Given the description of an element on the screen output the (x, y) to click on. 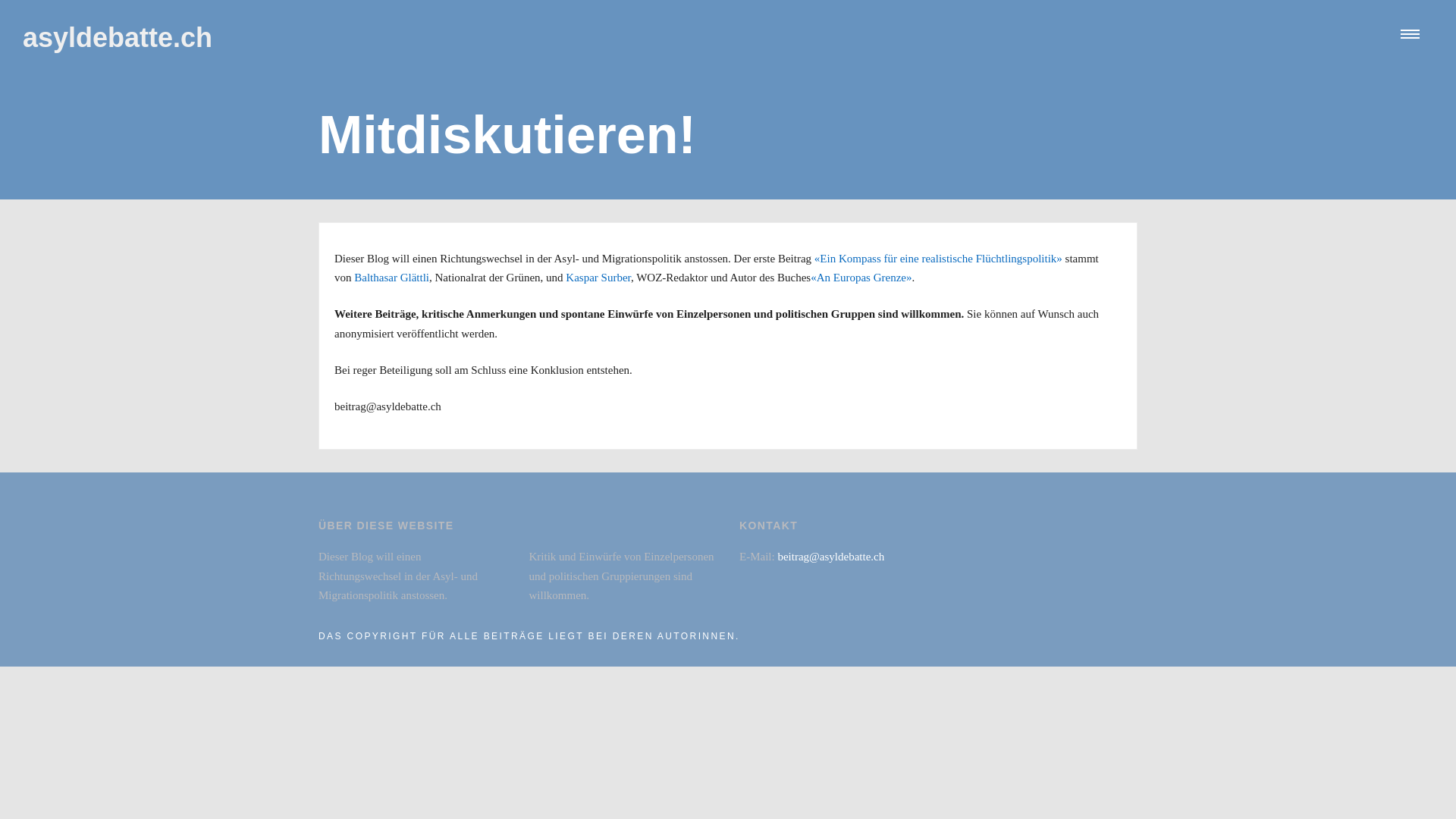
beitrag@asyldebatte.ch Element type: text (830, 556)
asyldebatte.ch Element type: text (117, 37)
Kaspar Surber Element type: text (597, 277)
